Given the description of an element on the screen output the (x, y) to click on. 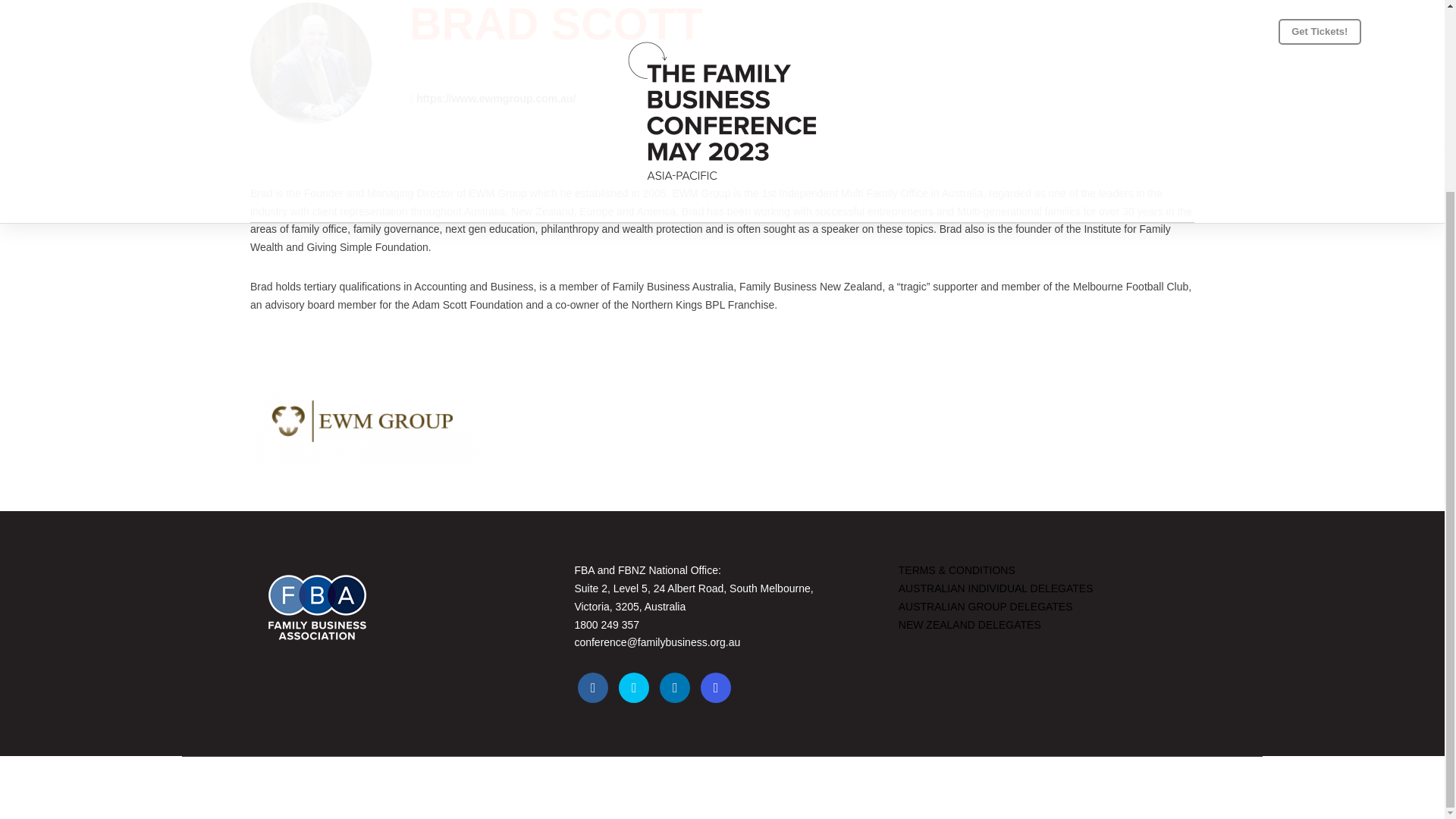
AUSTRALIAN INDIVIDUAL DELEGATES (995, 588)
Linkedin (674, 687)
Instagram (715, 687)
Facebook (593, 687)
AUSTRALIAN GROUP DELEGATES (985, 606)
Twitter (633, 687)
NEW ZEALAND DELEGATES (969, 623)
